Given the description of an element on the screen output the (x, y) to click on. 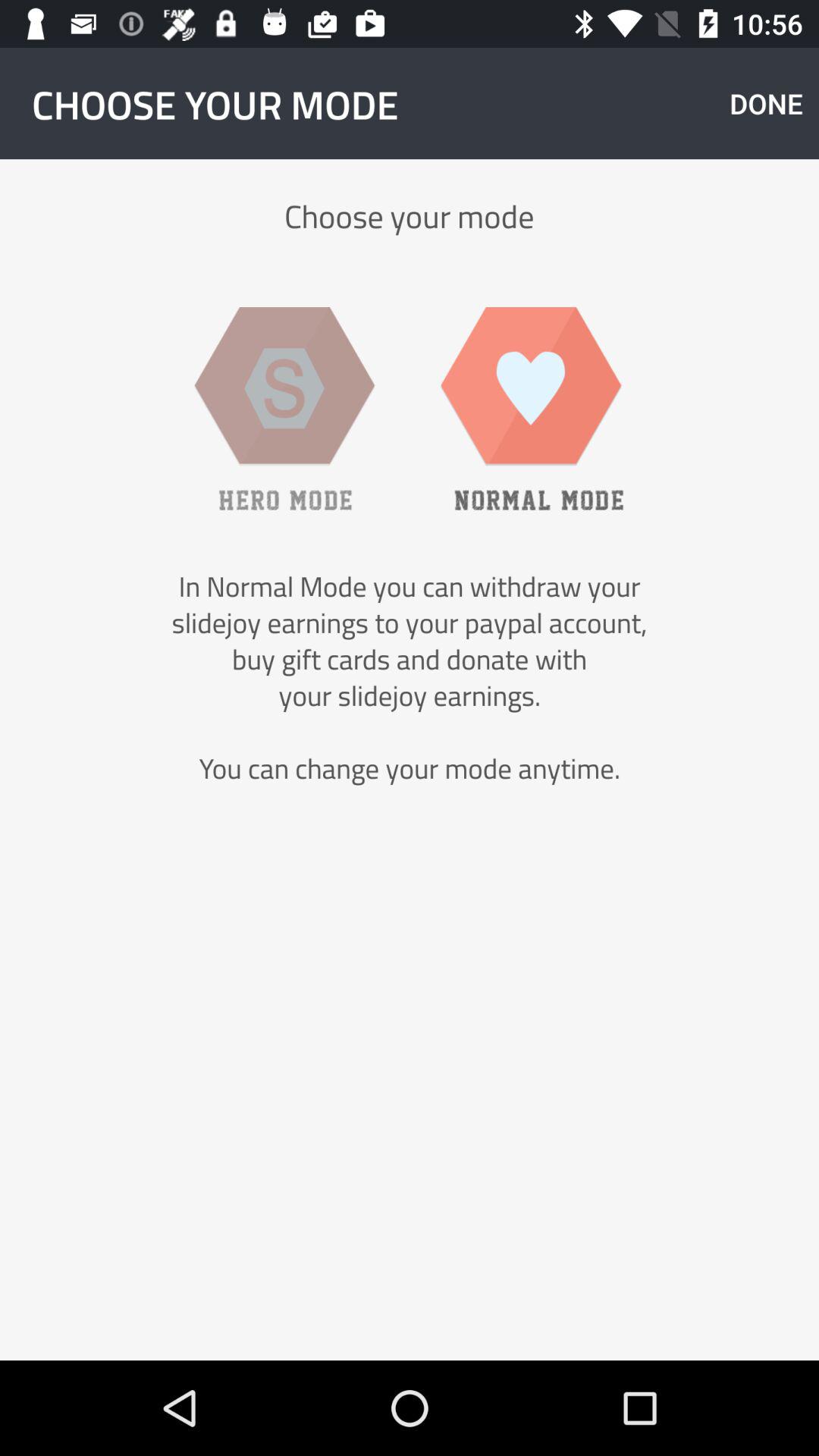
turn on the icon below choose your mode item (284, 408)
